Given the description of an element on the screen output the (x, y) to click on. 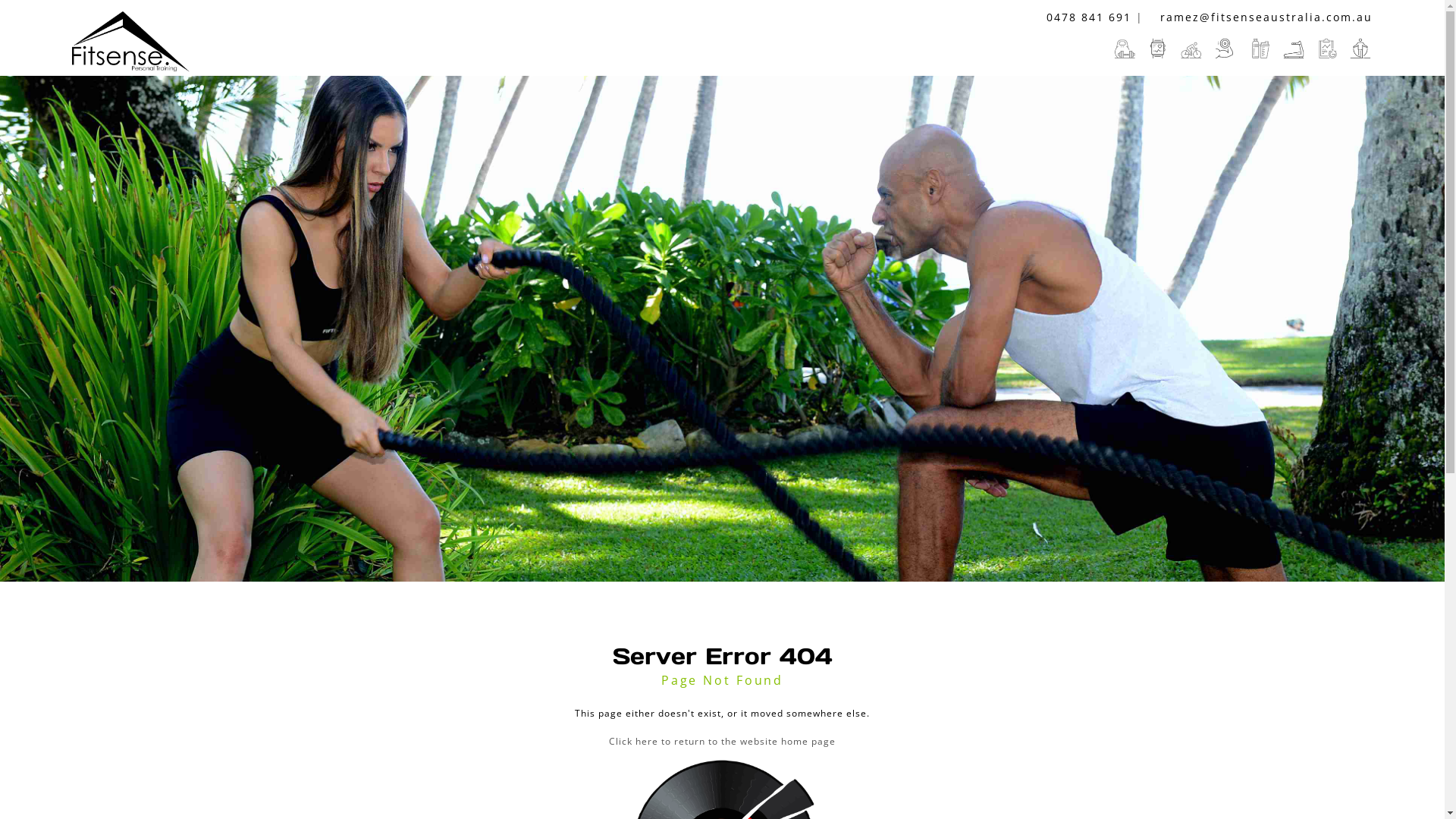
ramez@fitsenseaustralia.com.au Element type: text (1260, 16)
0478 841 691 Element type: text (1082, 16)
Click here to return to the website home page Element type: text (721, 740)
